Given the description of an element on the screen output the (x, y) to click on. 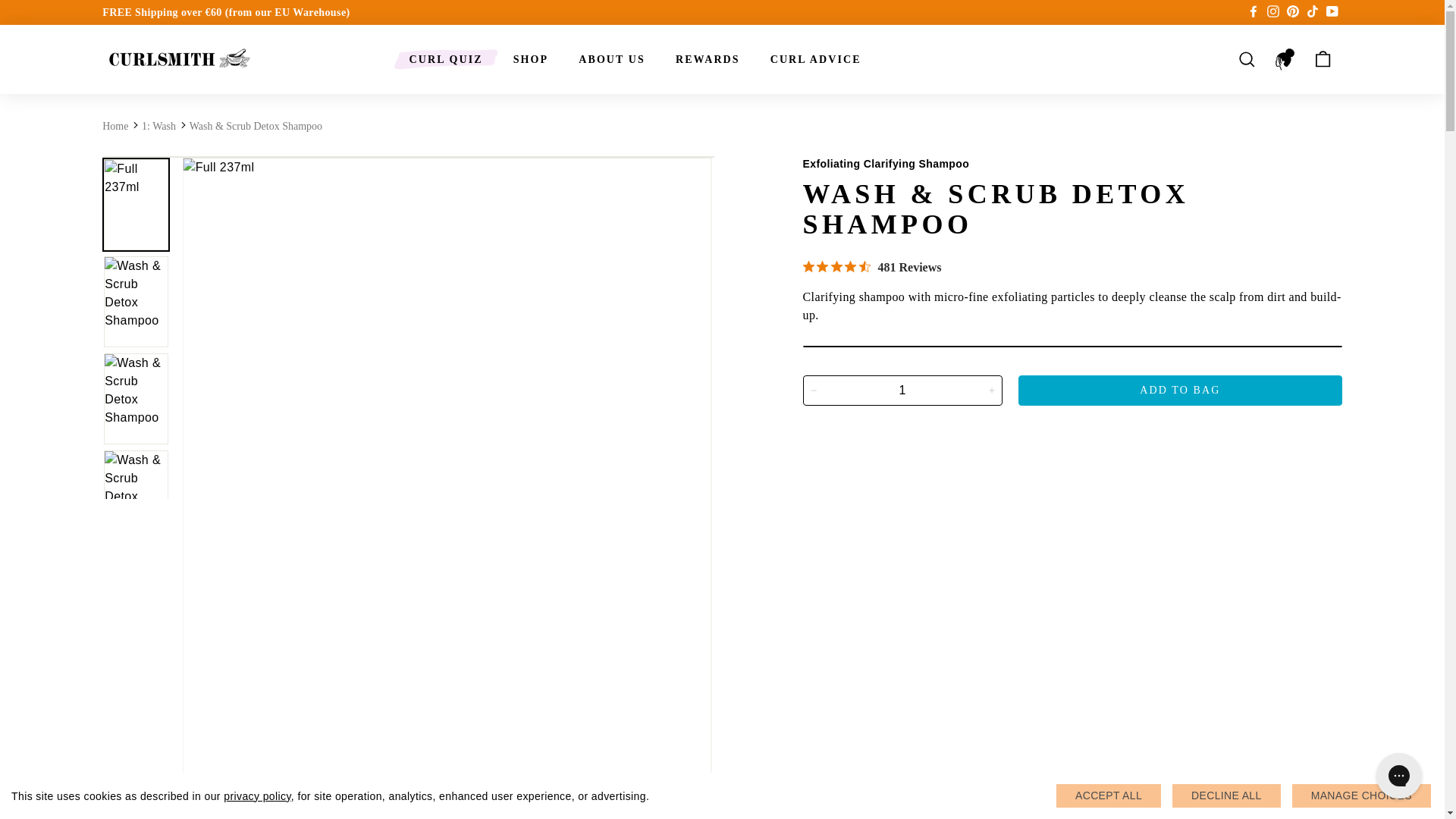
1 (901, 390)
481 Reviews (871, 267)
